Given the description of an element on the screen output the (x, y) to click on. 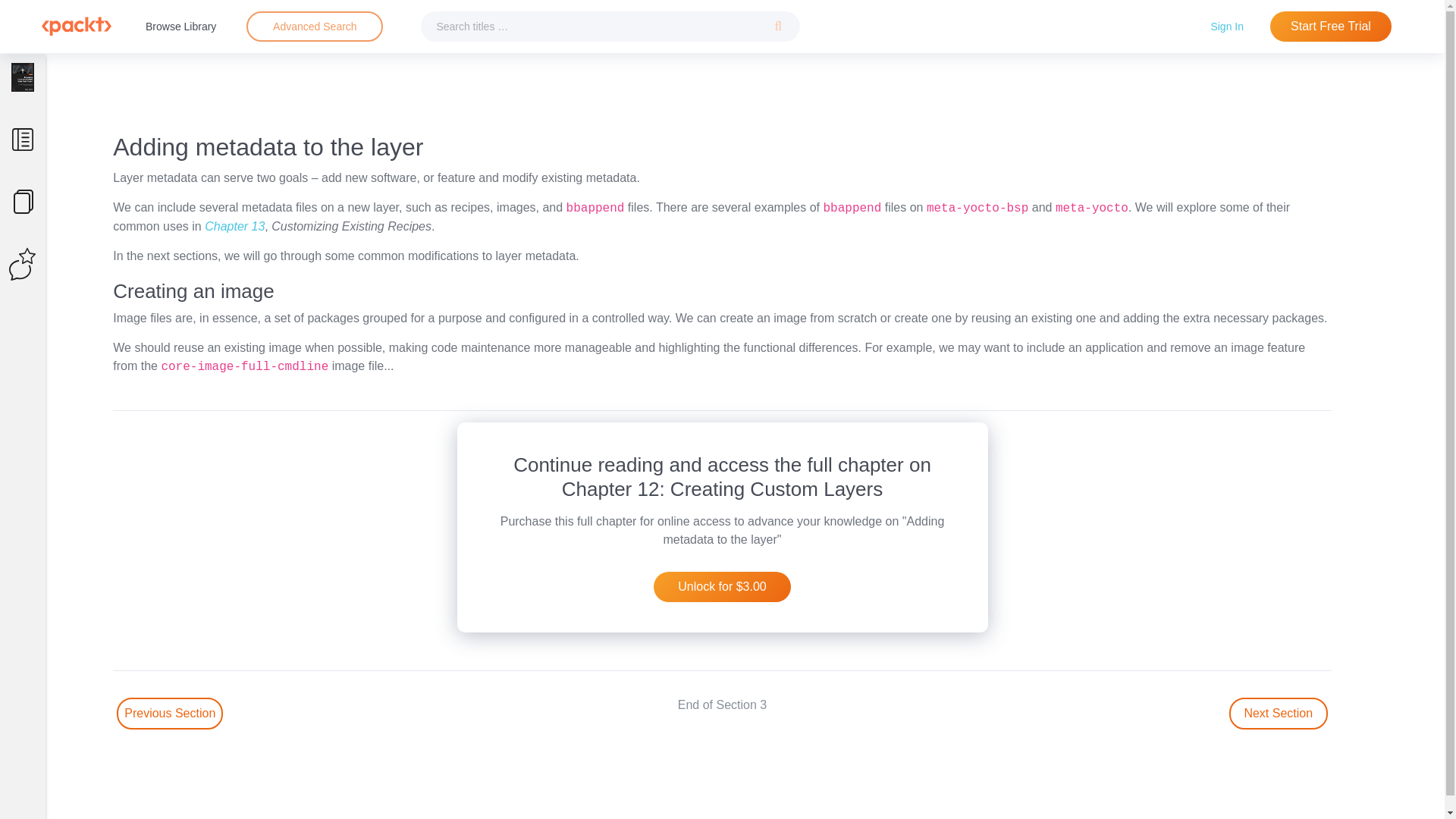
Go to next section (1277, 713)
Advanced Search (315, 26)
Browse Library (180, 26)
Go to Previous section (169, 713)
Sign In (1227, 26)
Advanced Search (314, 26)
Advanced search (314, 26)
Start Free Trial (1330, 26)
